Given the description of an element on the screen output the (x, y) to click on. 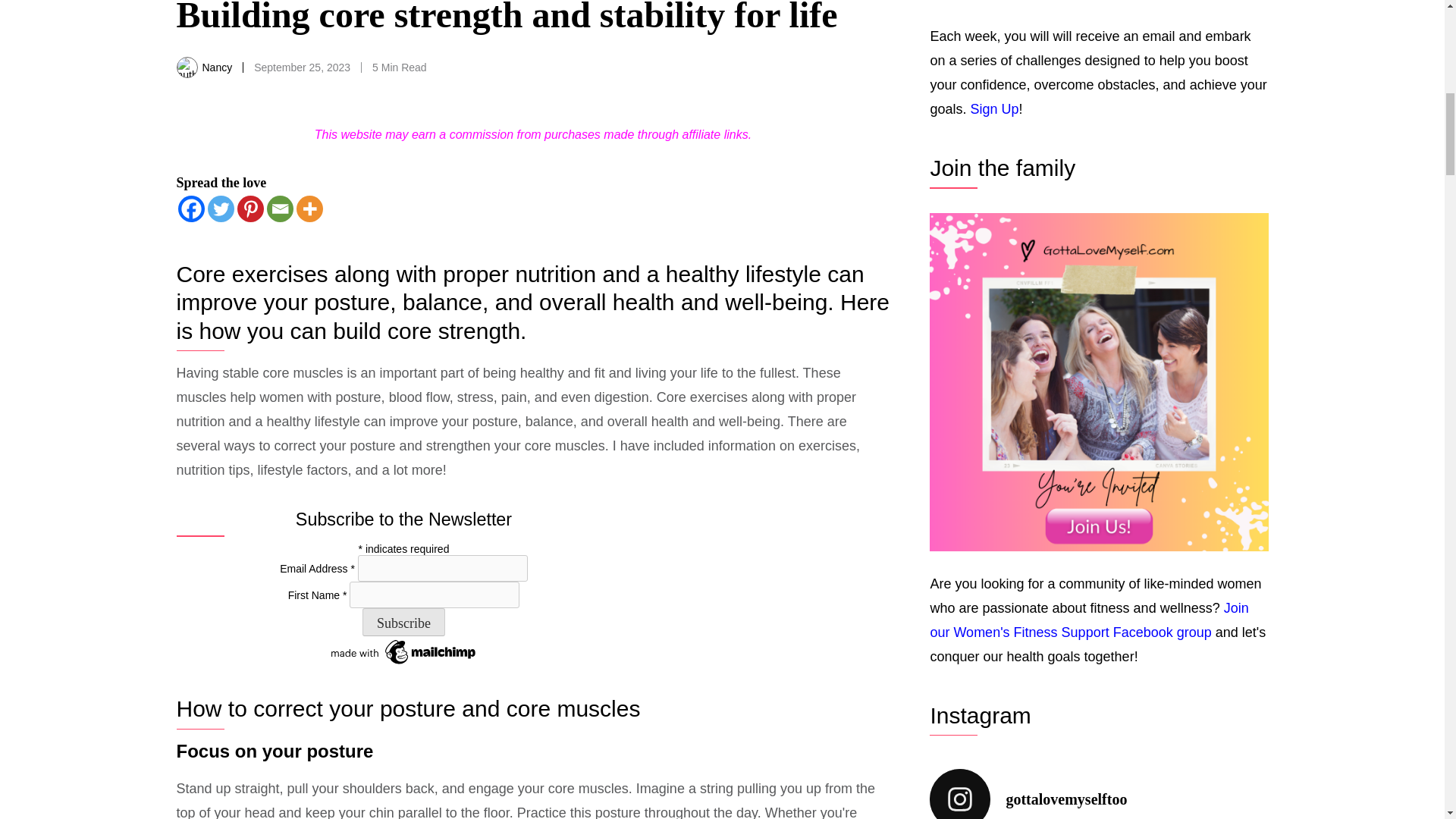
September 25, 2023 (301, 67)
Subscribe (403, 622)
Pinterest (249, 208)
More (308, 208)
Nancy (216, 67)
Facebook (190, 208)
Twitter (221, 208)
Mailchimp - email marketing made easy and fun (403, 645)
Email (280, 208)
